Given the description of an element on the screen output the (x, y) to click on. 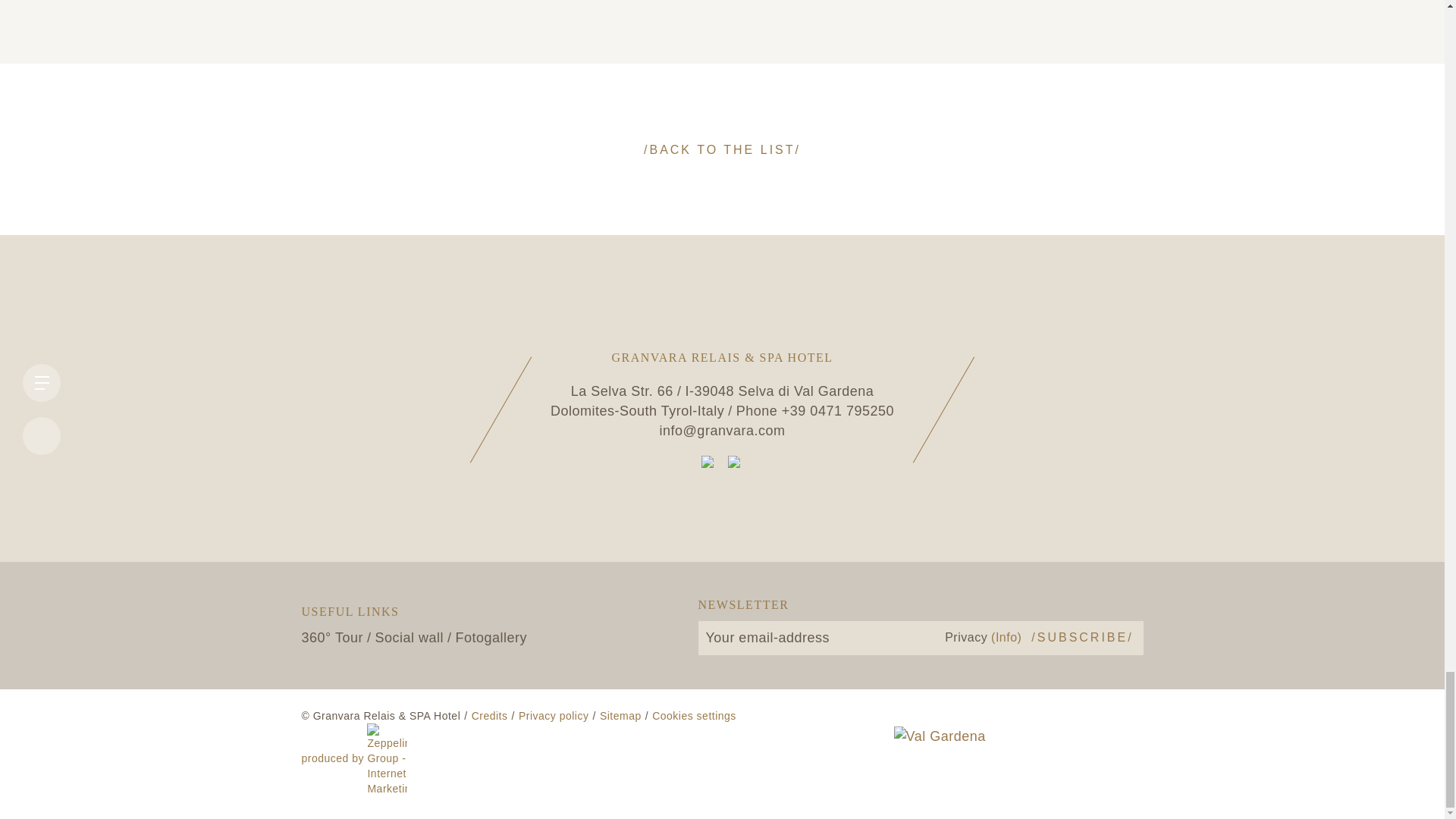
Zeppelin Group - Internet Marketing (354, 758)
Your email-address (812, 637)
Instagram (735, 462)
Facebook (708, 462)
Val Gardena (939, 752)
